Given the description of an element on the screen output the (x, y) to click on. 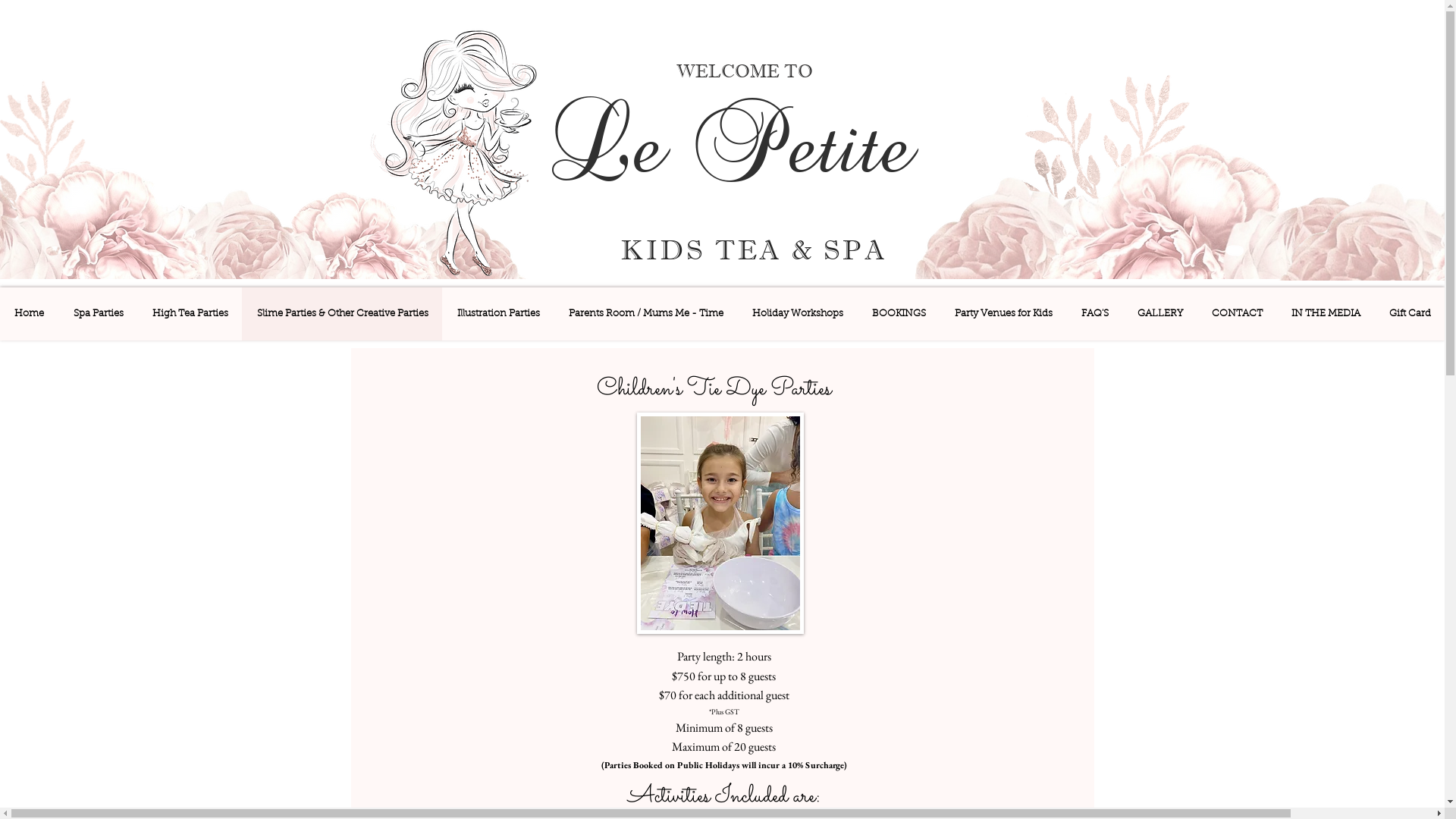
Spa Parties Element type: text (97, 313)
Party Venues for Kids Element type: text (1002, 313)
GALLERY Element type: text (1159, 313)
Home Element type: text (29, 313)
Slime Parties & Other Creative Parties Element type: text (341, 313)
Holiday Workshops Element type: text (796, 313)
CONTACT Element type: text (1236, 313)
IN THE MEDIA Element type: text (1325, 313)
Gift Card Element type: text (1409, 313)
High Tea Parties Element type: text (189, 313)
Illustration Parties Element type: text (497, 313)
FAQ'S Element type: text (1094, 313)
BOOKINGS Element type: text (897, 313)
Parents Room / Mums Me - Time Element type: text (645, 313)
